Given the description of an element on the screen output the (x, y) to click on. 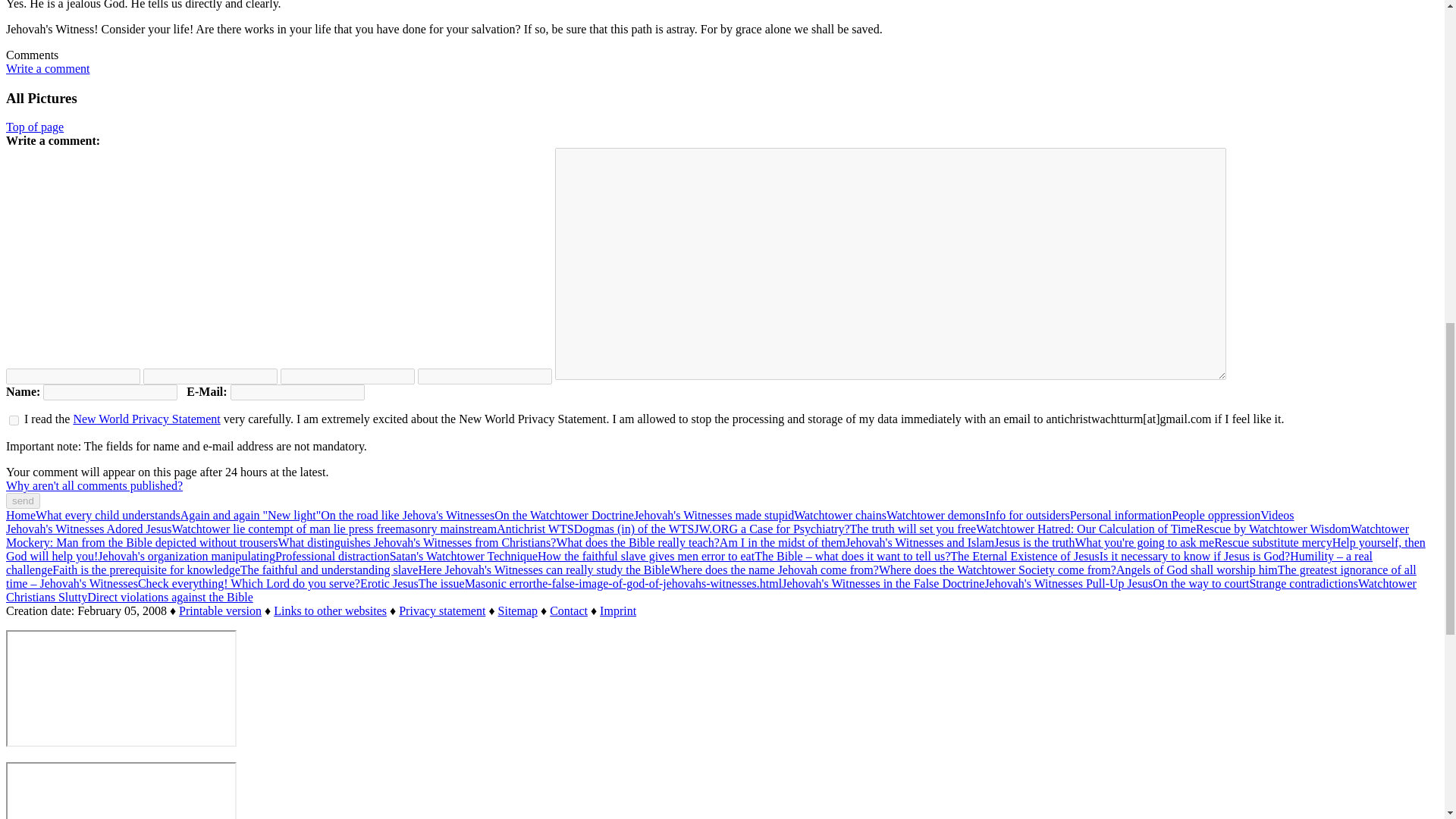
hineingeboren? (347, 376)
What distinguishes Jehovah's Witnesses from Christians? (417, 542)
Why aren't all comments published? (94, 485)
Rescue by Watchtower Wisdom (1273, 528)
on (13, 420)
New World Privacy Statement (145, 418)
On the Watchtower Doctrine (564, 514)
Home (19, 514)
send (22, 500)
